Given the description of an element on the screen output the (x, y) to click on. 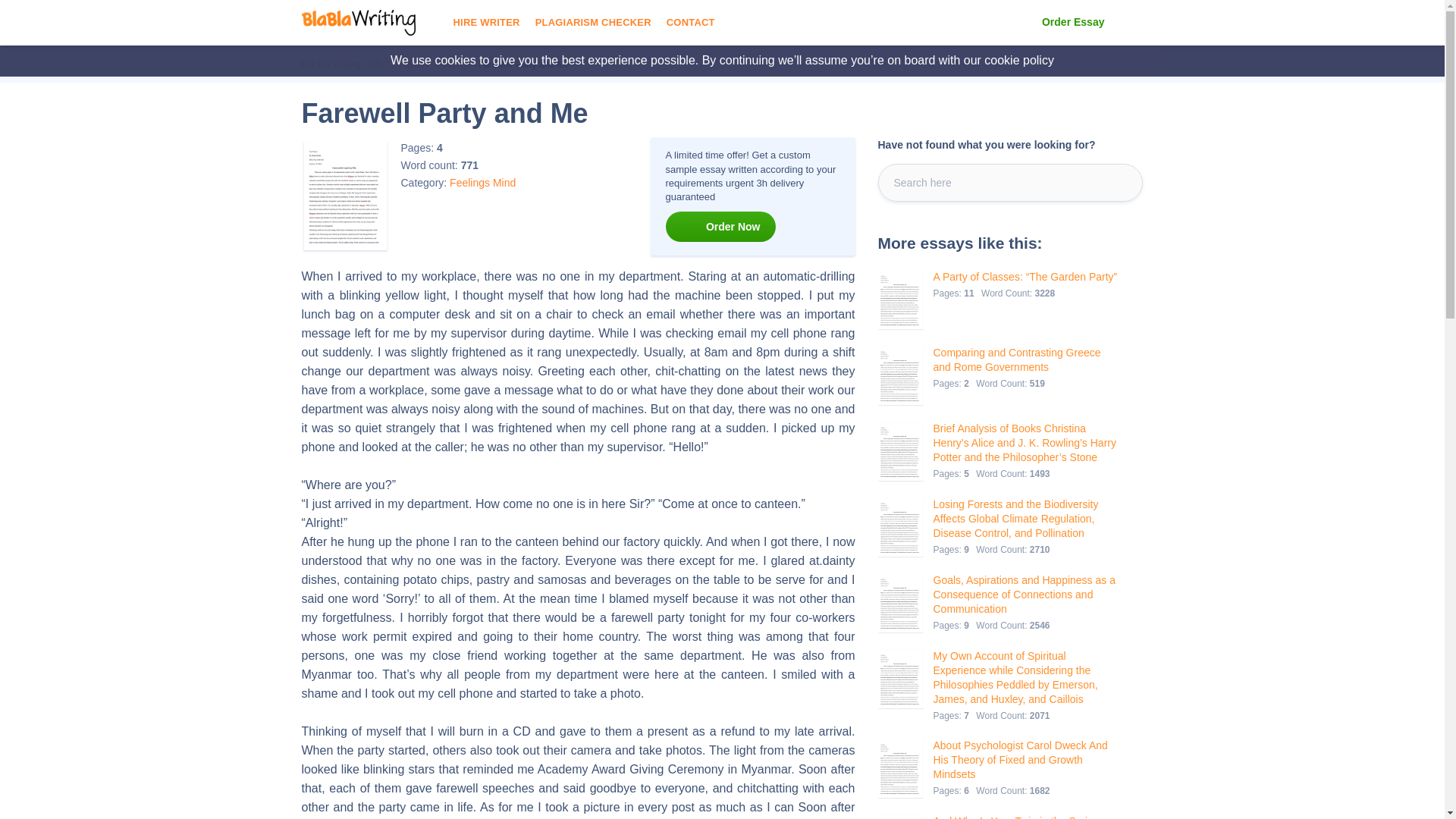
Bla Bla Writing. (331, 63)
Order Now (720, 226)
PLAGIARISM CHECKER (592, 22)
Order Essay (1073, 22)
Feelings (452, 63)
cookie policy (1019, 60)
CONTACT (690, 22)
Emotions. (409, 63)
Mind (504, 182)
Emotions (409, 63)
Feelings (469, 182)
HIRE WRITER (485, 22)
Feelings. (452, 63)
